Given the description of an element on the screen output the (x, y) to click on. 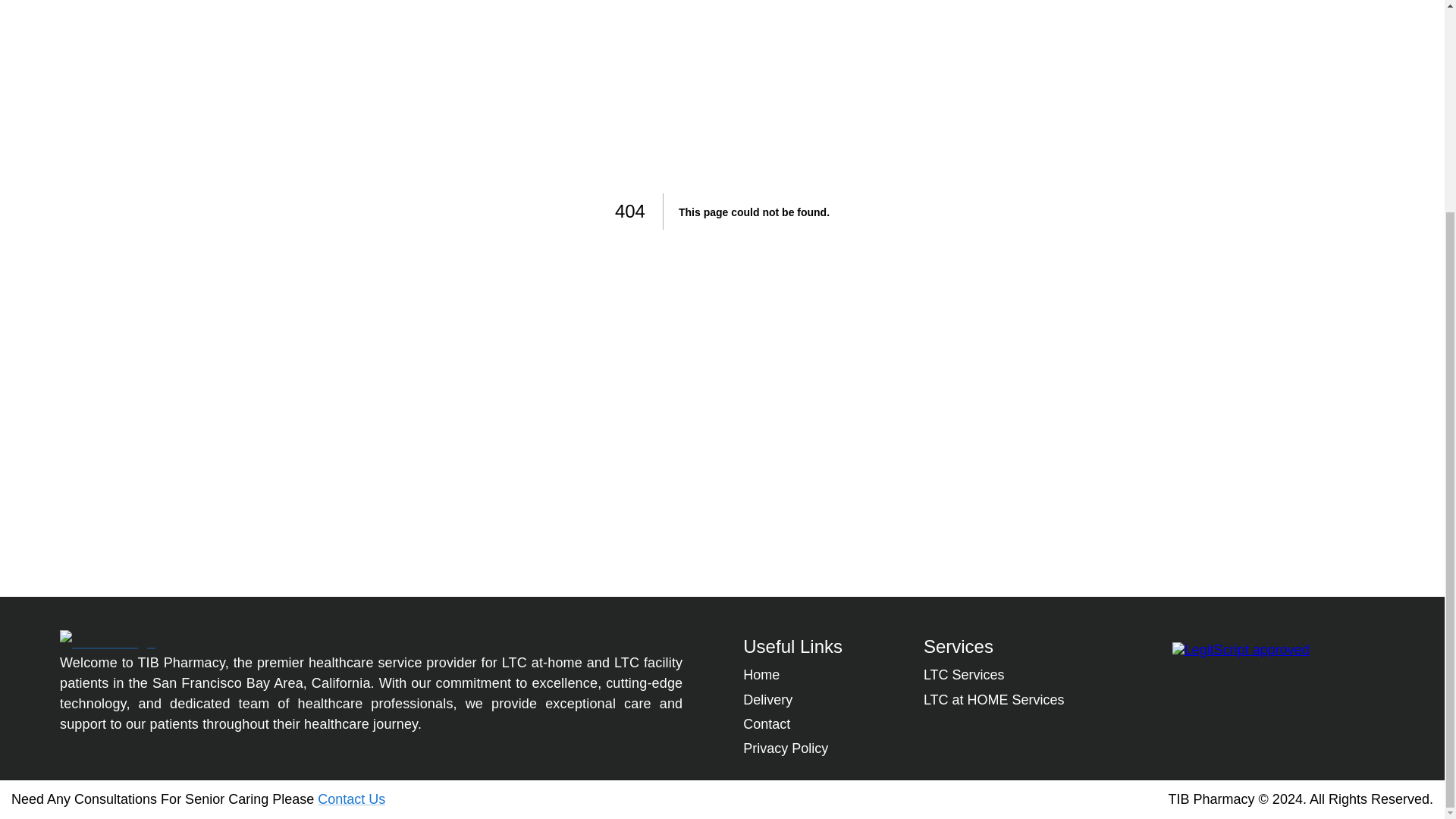
Privacy Policy (785, 748)
Delivery (767, 699)
Verify LegitScript Approval (1240, 649)
Home (760, 674)
Contact (766, 724)
Contact Us (351, 798)
LTC at HOME Services (993, 699)
Services (957, 646)
LTC Services (963, 674)
Useful Links (792, 646)
